Given the description of an element on the screen output the (x, y) to click on. 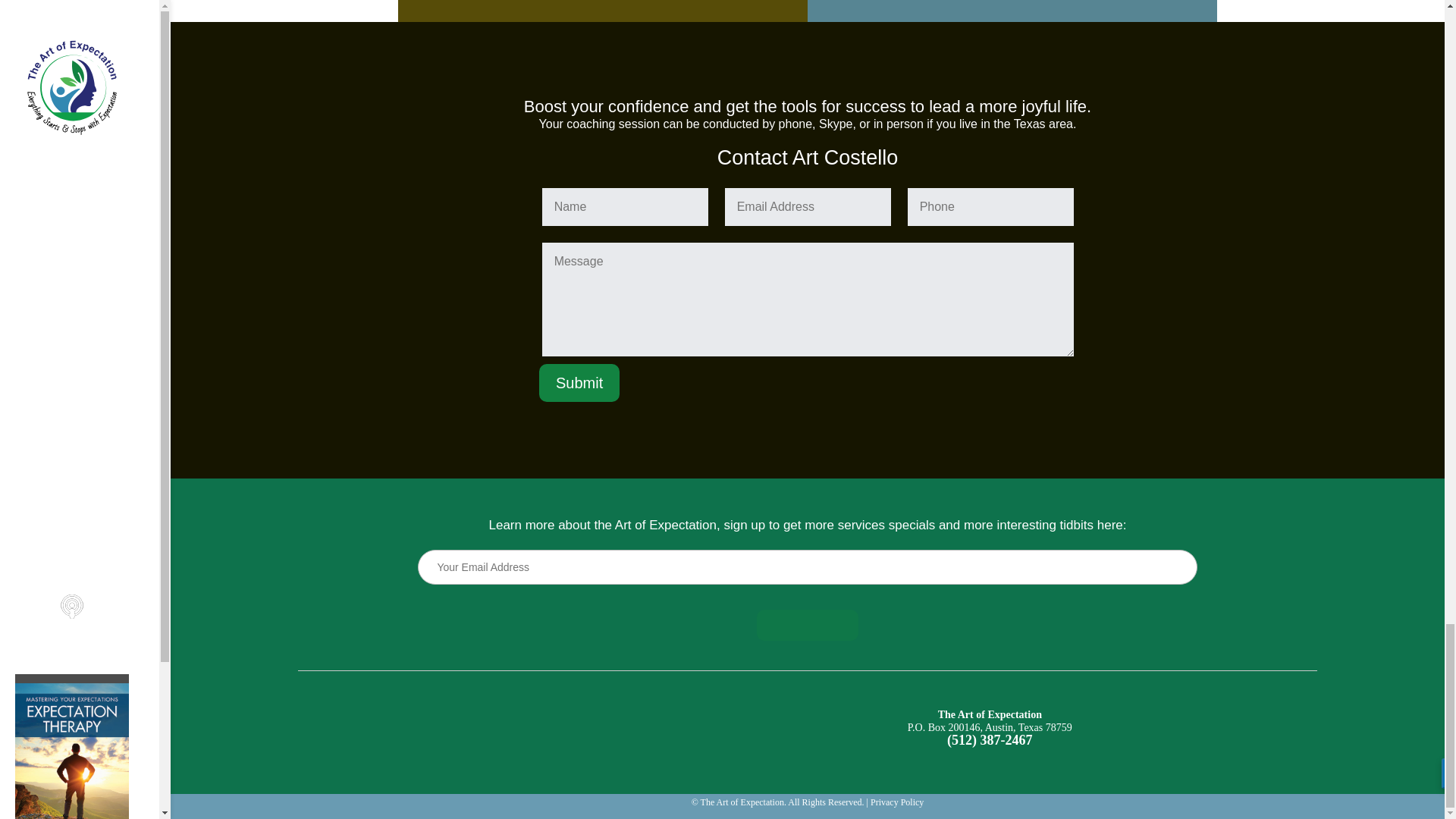
Only numbers allowed.Minimum length: 10 characters.  (990, 207)
Subscribe (808, 624)
